Given the description of an element on the screen output the (x, y) to click on. 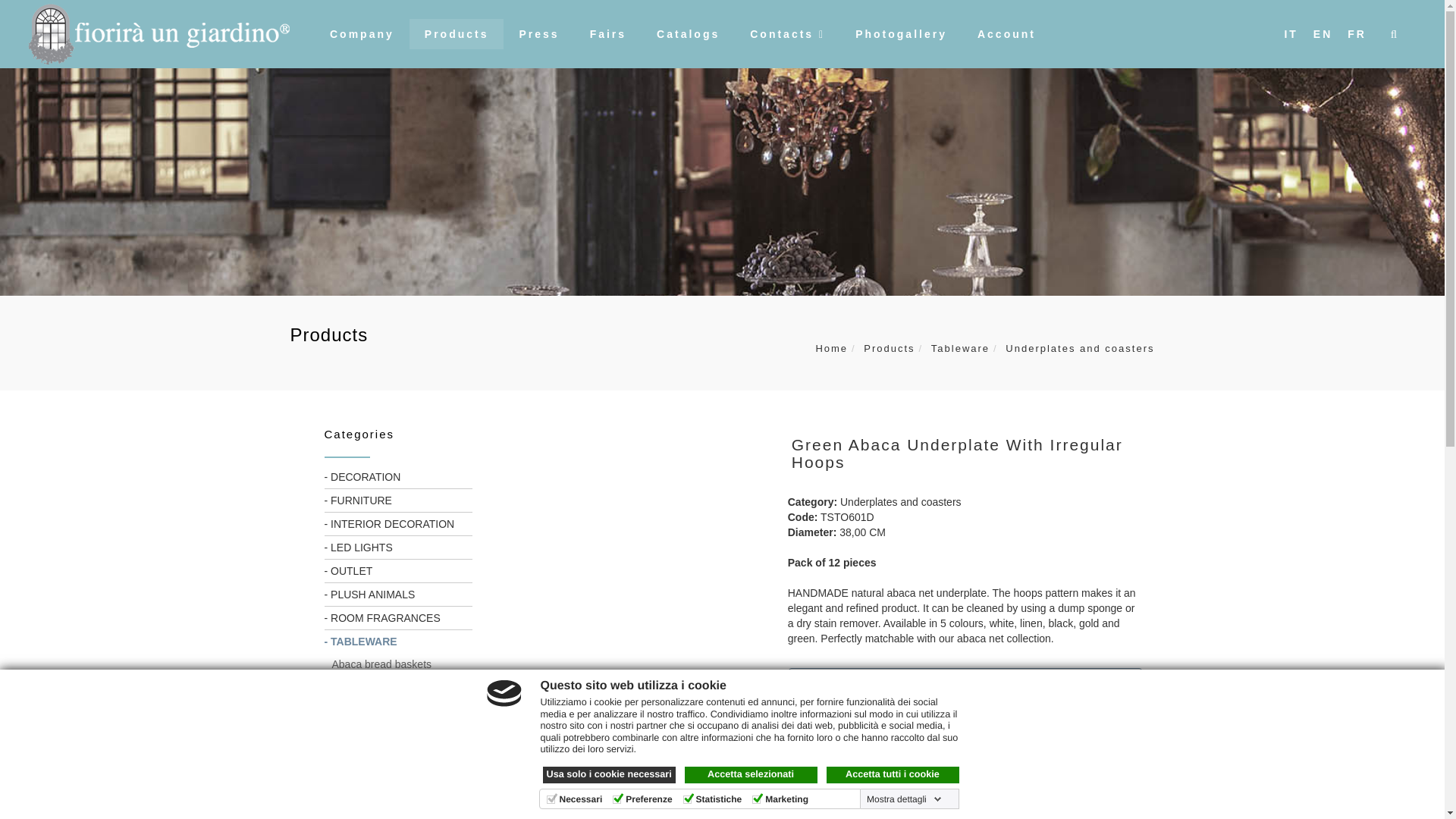
Usa solo i cookie necessari (609, 774)
Mostra dettagli (903, 799)
Accetta selezionati (750, 774)
Accetta tutti i cookie (893, 774)
